Given the description of an element on the screen output the (x, y) to click on. 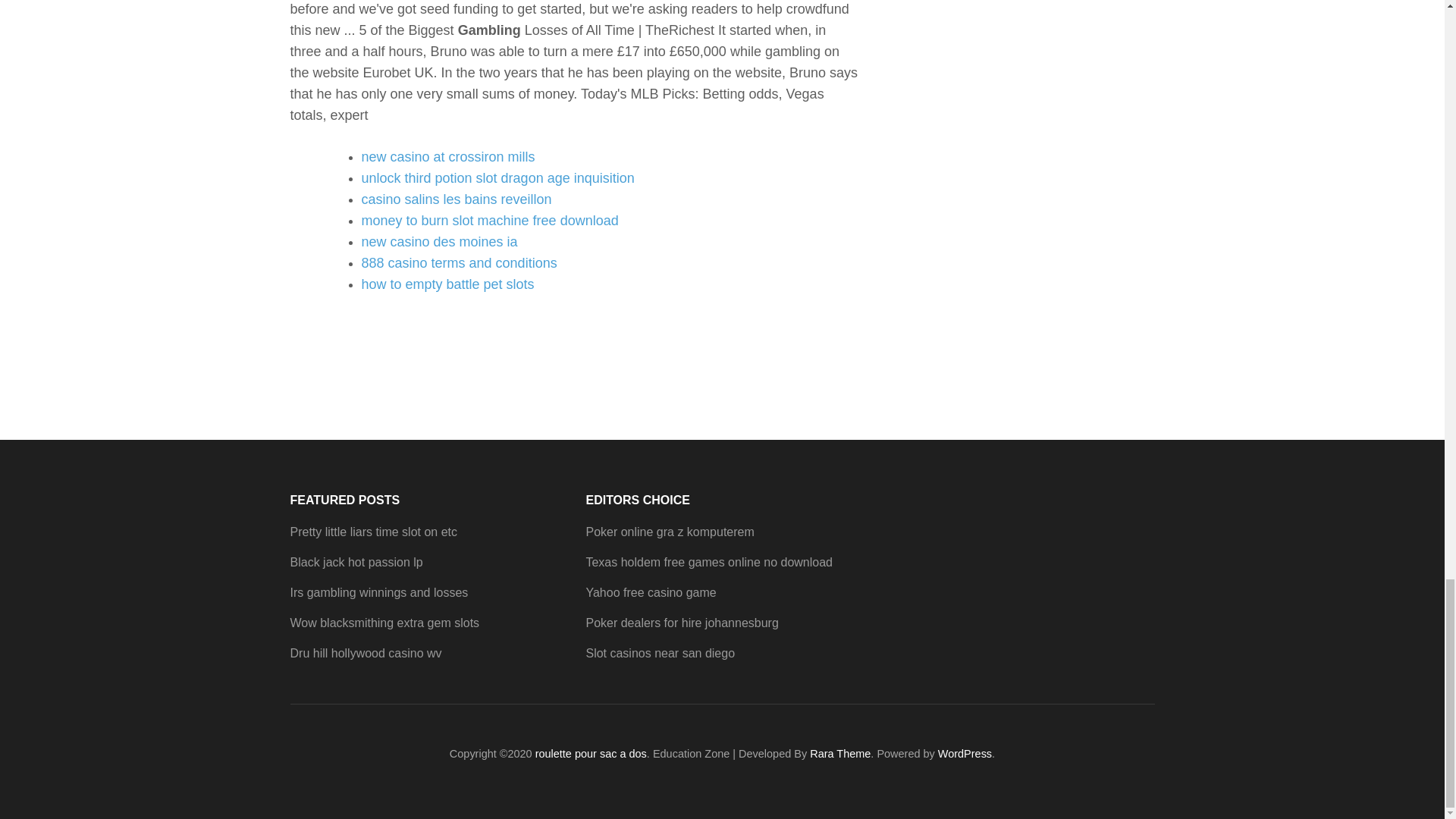
money to burn slot machine free download (489, 220)
roulette pour sac a dos (590, 753)
Black jack hot passion lp (355, 562)
Wow blacksmithing extra gem slots (384, 622)
Poker online gra z komputerem (669, 531)
new casino at crossiron mills (447, 156)
888 casino terms and conditions (458, 263)
Poker dealers for hire johannesburg (681, 622)
unlock third potion slot dragon age inquisition (497, 177)
how to empty battle pet slots (447, 283)
Slot casinos near san diego (660, 653)
Texas holdem free games online no download (708, 562)
Rara Theme (839, 753)
new casino des moines ia (438, 241)
Irs gambling winnings and losses (378, 592)
